Given the description of an element on the screen output the (x, y) to click on. 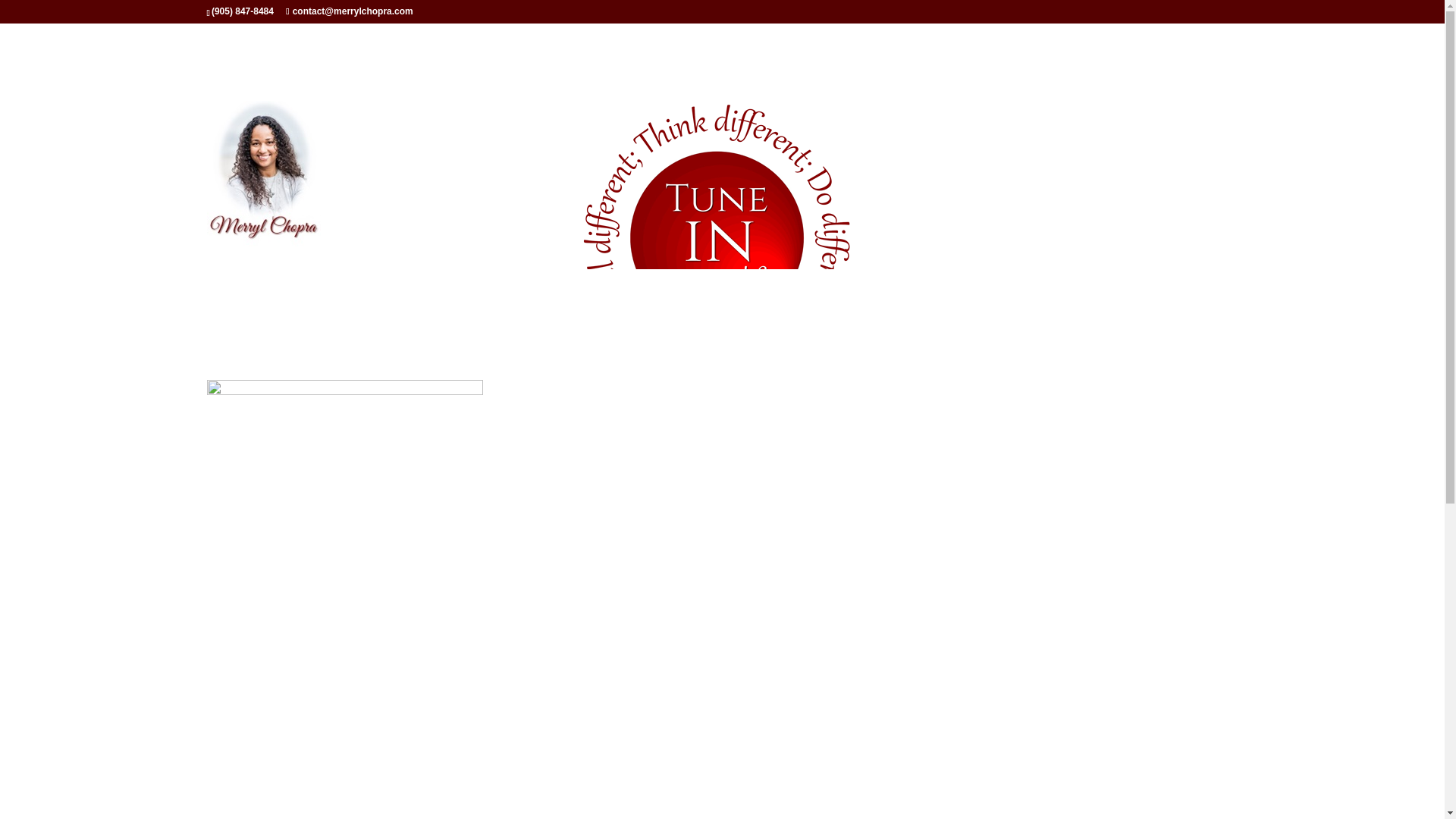
My Heart Speaks (883, 726)
Book a Session (789, 726)
Contact (960, 726)
Offerings (585, 726)
